Given the description of an element on the screen output the (x, y) to click on. 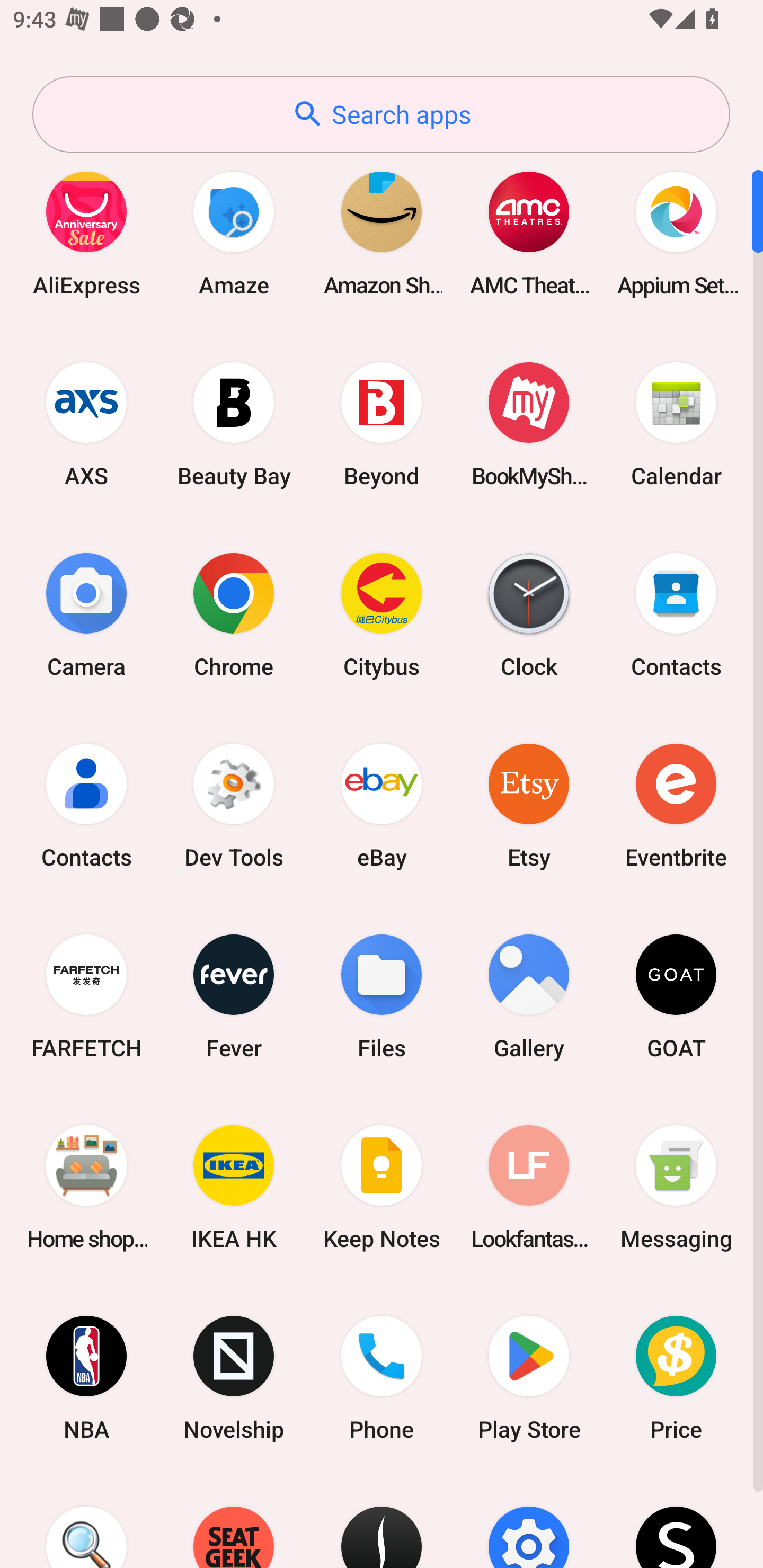
  Search apps (381, 114)
AliExpress (86, 233)
Amaze (233, 233)
Amazon Shopping (381, 233)
AMC Theatres (528, 233)
Appium Settings (676, 233)
AXS (86, 424)
Beauty Bay (233, 424)
Beyond (381, 424)
BookMyShow (528, 424)
Calendar (676, 424)
Camera (86, 614)
Chrome (233, 614)
Citybus (381, 614)
Clock (528, 614)
Contacts (676, 614)
Contacts (86, 805)
Dev Tools (233, 805)
eBay (381, 805)
Etsy (528, 805)
Eventbrite (676, 805)
FARFETCH (86, 996)
Fever (233, 996)
Files (381, 996)
Gallery (528, 996)
GOAT (676, 996)
Home shopping (86, 1186)
IKEA HK (233, 1186)
Keep Notes (381, 1186)
Lookfantastic (528, 1186)
Messaging (676, 1186)
NBA (86, 1377)
Novelship (233, 1377)
Phone (381, 1377)
Play Store (528, 1377)
Price (676, 1377)
